Given the description of an element on the screen output the (x, y) to click on. 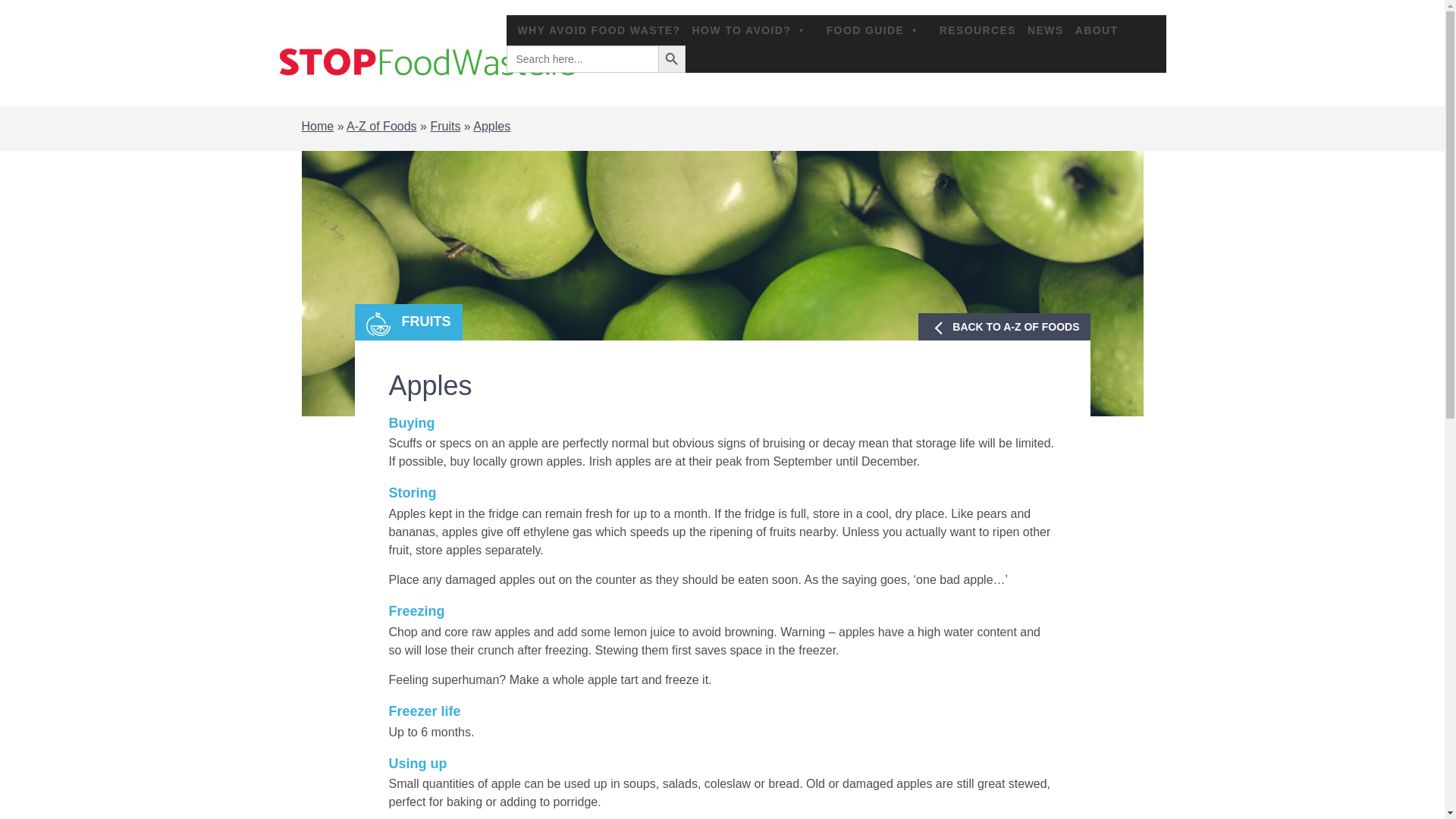
ABOUT (1091, 30)
Apples (492, 125)
HOW TO AVOID? (748, 30)
FRUITS (409, 321)
FOOD GUIDE (871, 30)
Home (317, 125)
Search Button (671, 58)
RESOURCES (972, 30)
NEWS (1040, 30)
WHY AVOID FOOD WASTE? (593, 30)
Fruits (444, 125)
A-Z of Foods (381, 125)
BACK TO A-Z OF FOODS (1003, 326)
